Given the description of an element on the screen output the (x, y) to click on. 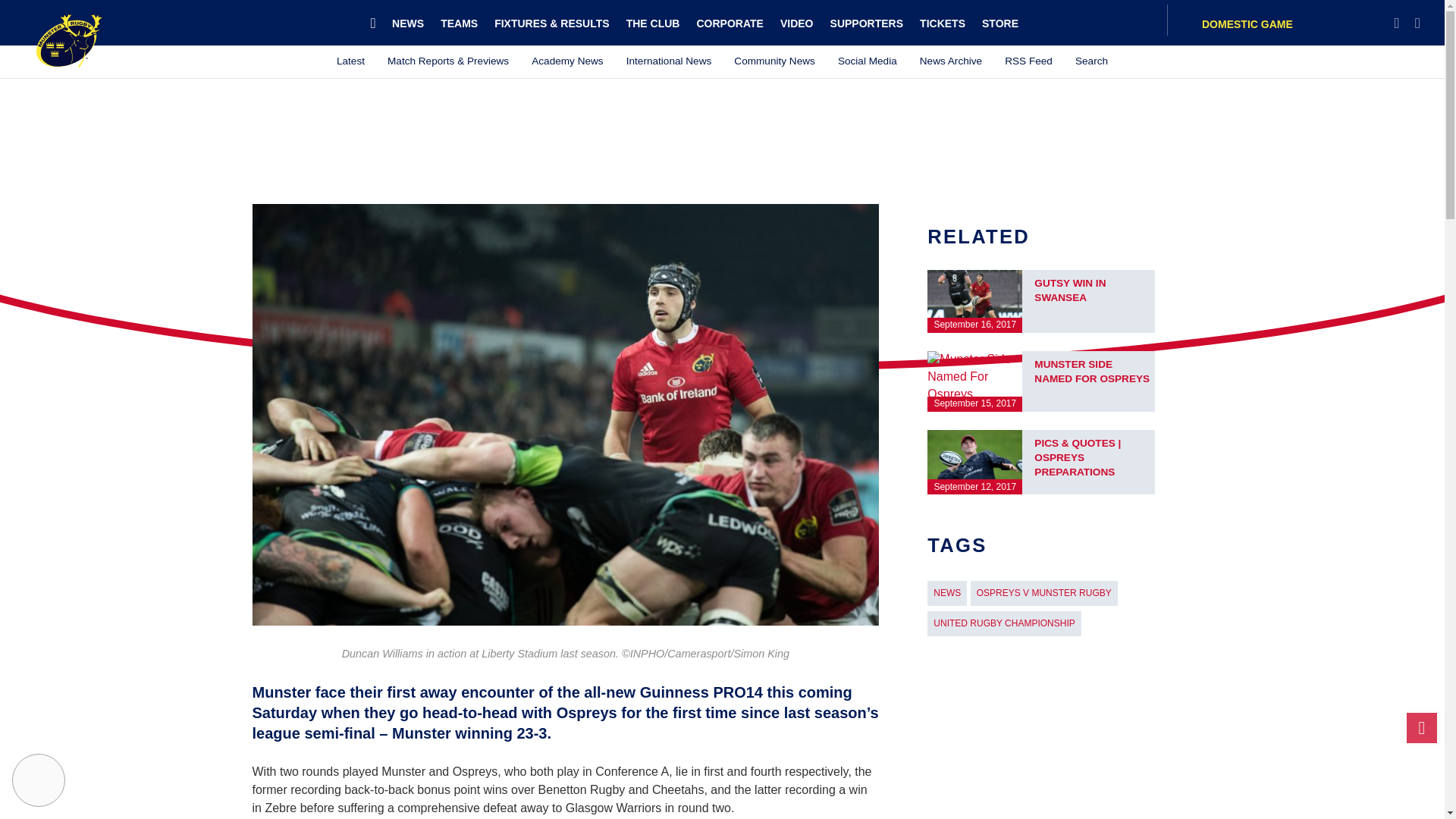
Munster Rugby (70, 38)
Home (376, 23)
News (407, 23)
THE CLUB (652, 23)
Teams (458, 23)
